Given the description of an element on the screen output the (x, y) to click on. 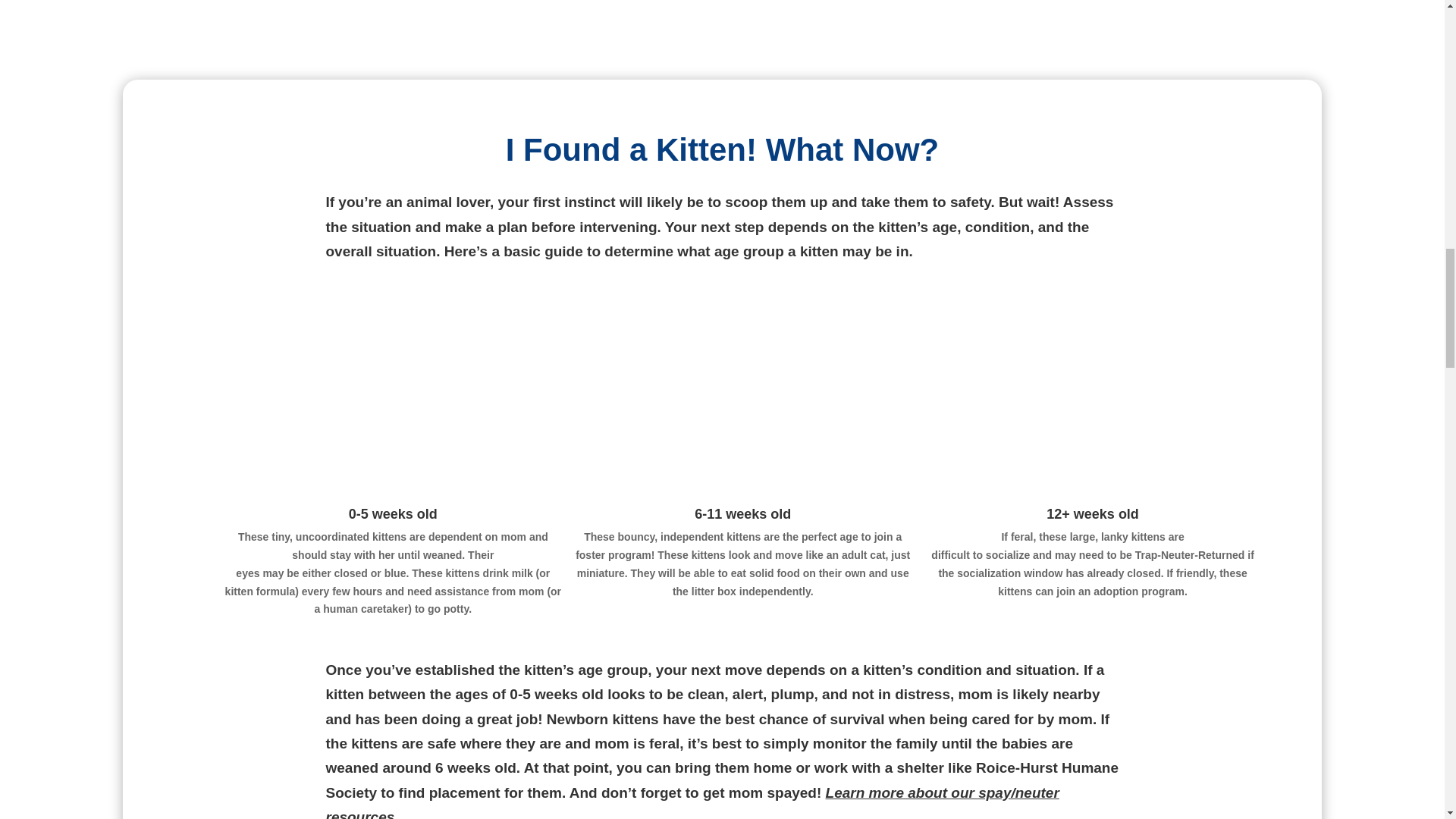
Kitten Shower Poster 2024 8.5x11 (721, 29)
